Given the description of an element on the screen output the (x, y) to click on. 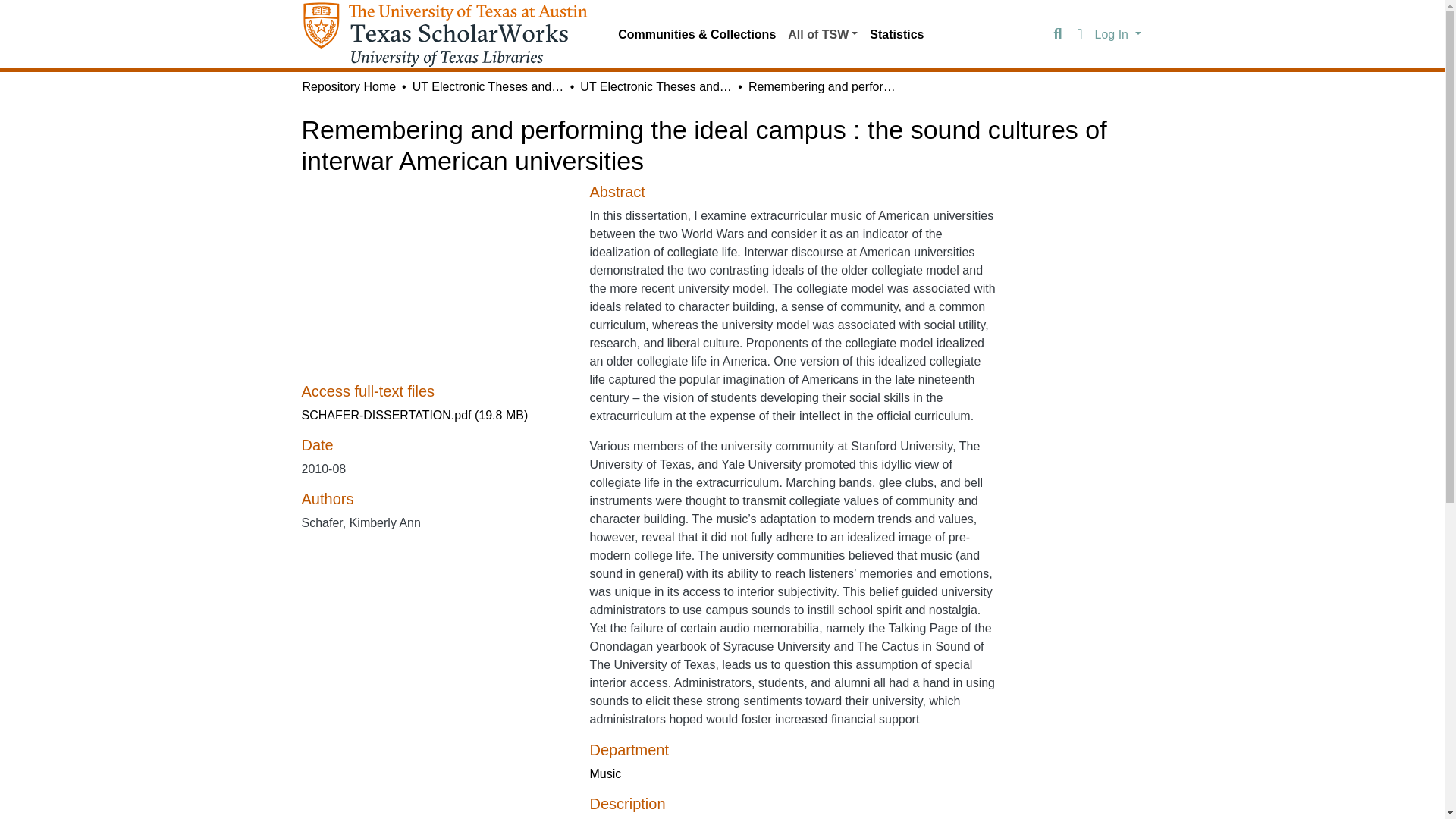
UT Electronic Theses and Dissertations (488, 86)
Repository Home (348, 86)
Music (605, 773)
Language switch (1079, 34)
UT Electronic Theses and Dissertations (655, 86)
Search (1057, 34)
Statistics (896, 34)
All of TSW (822, 34)
Log In (1117, 33)
Statistics (896, 34)
